Given the description of an element on the screen output the (x, y) to click on. 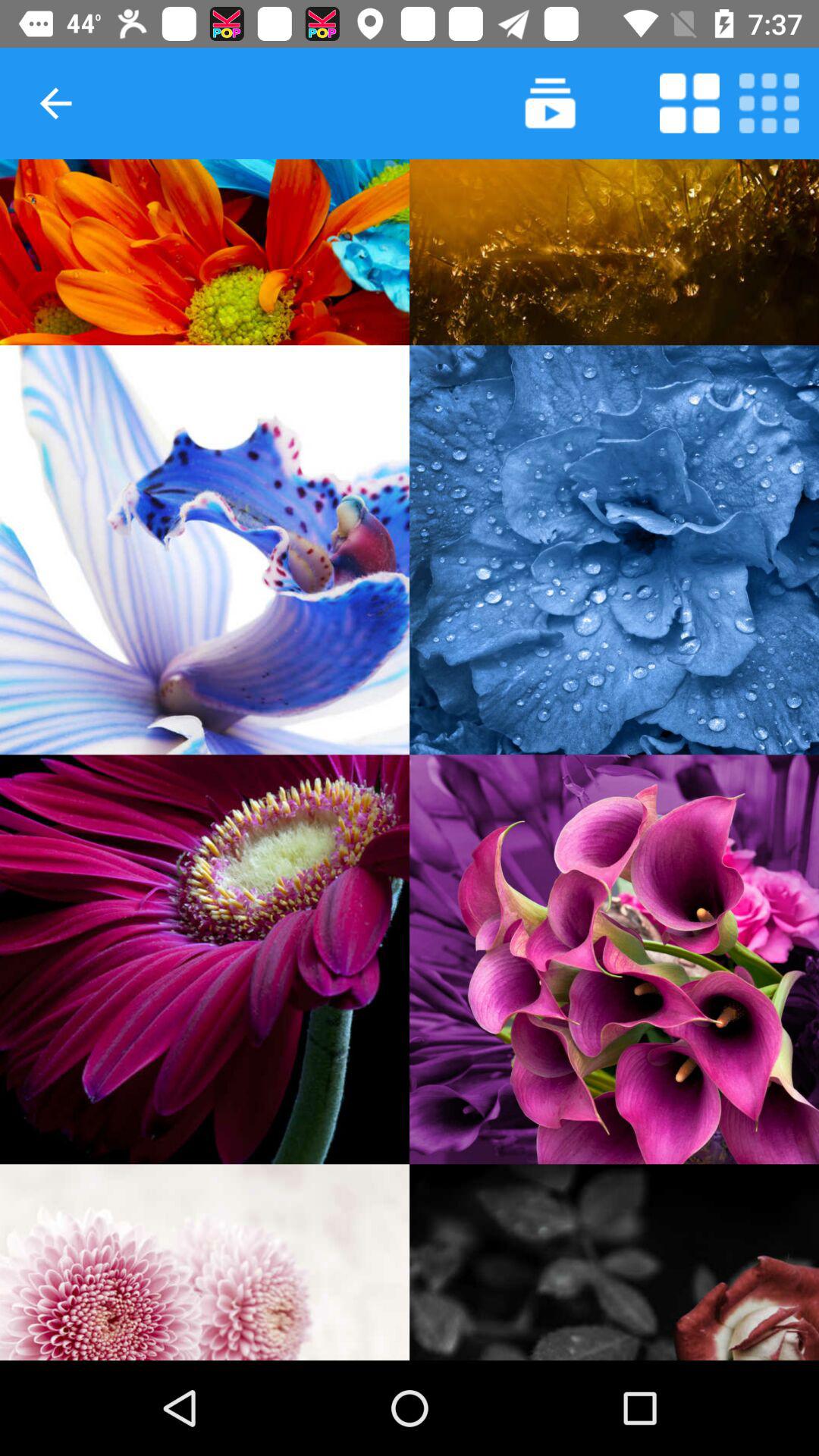
view larger photo (204, 959)
